Given the description of an element on the screen output the (x, y) to click on. 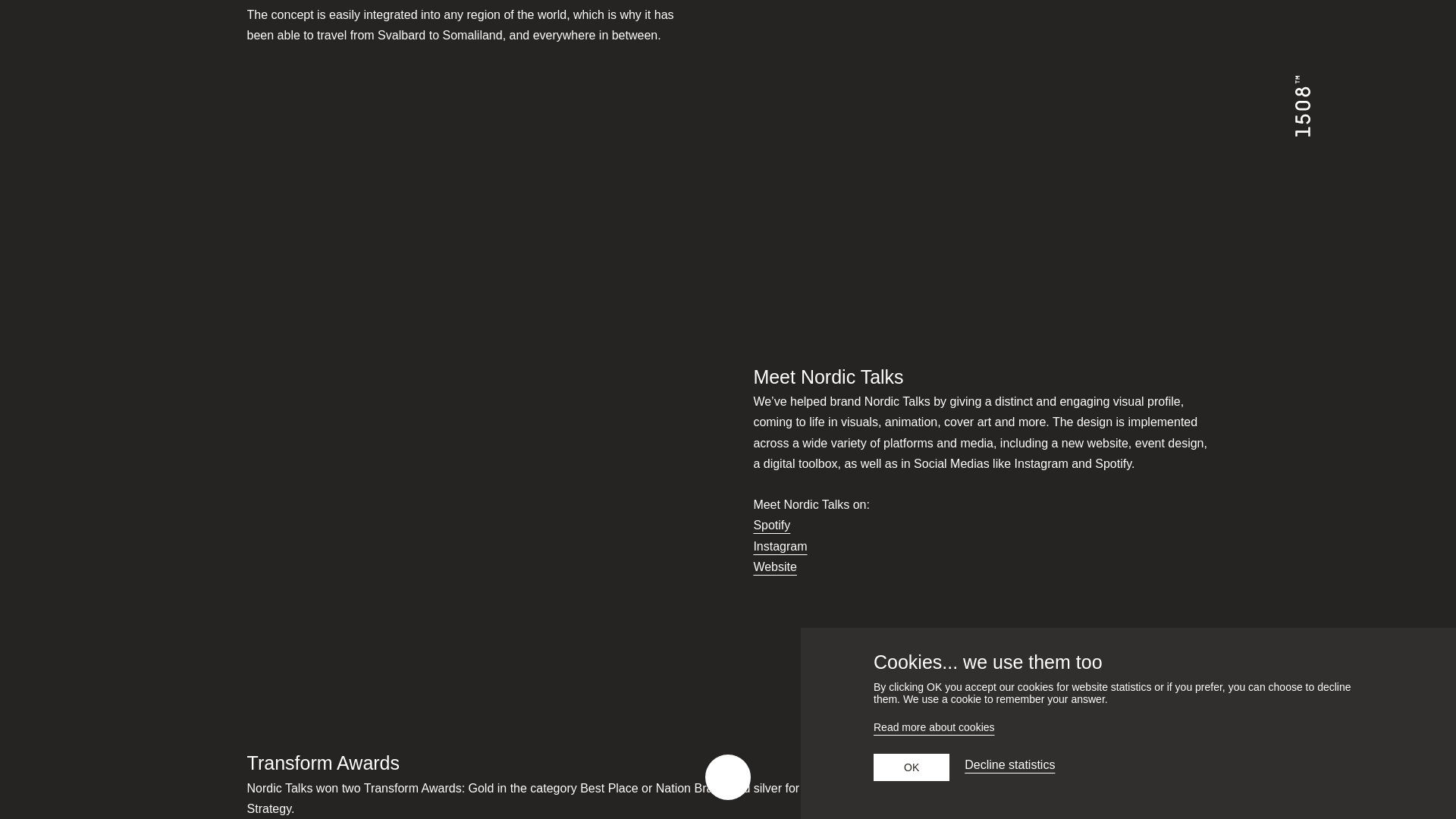
Website (774, 566)
Spotify (771, 525)
Instagram (779, 546)
